Given the description of an element on the screen output the (x, y) to click on. 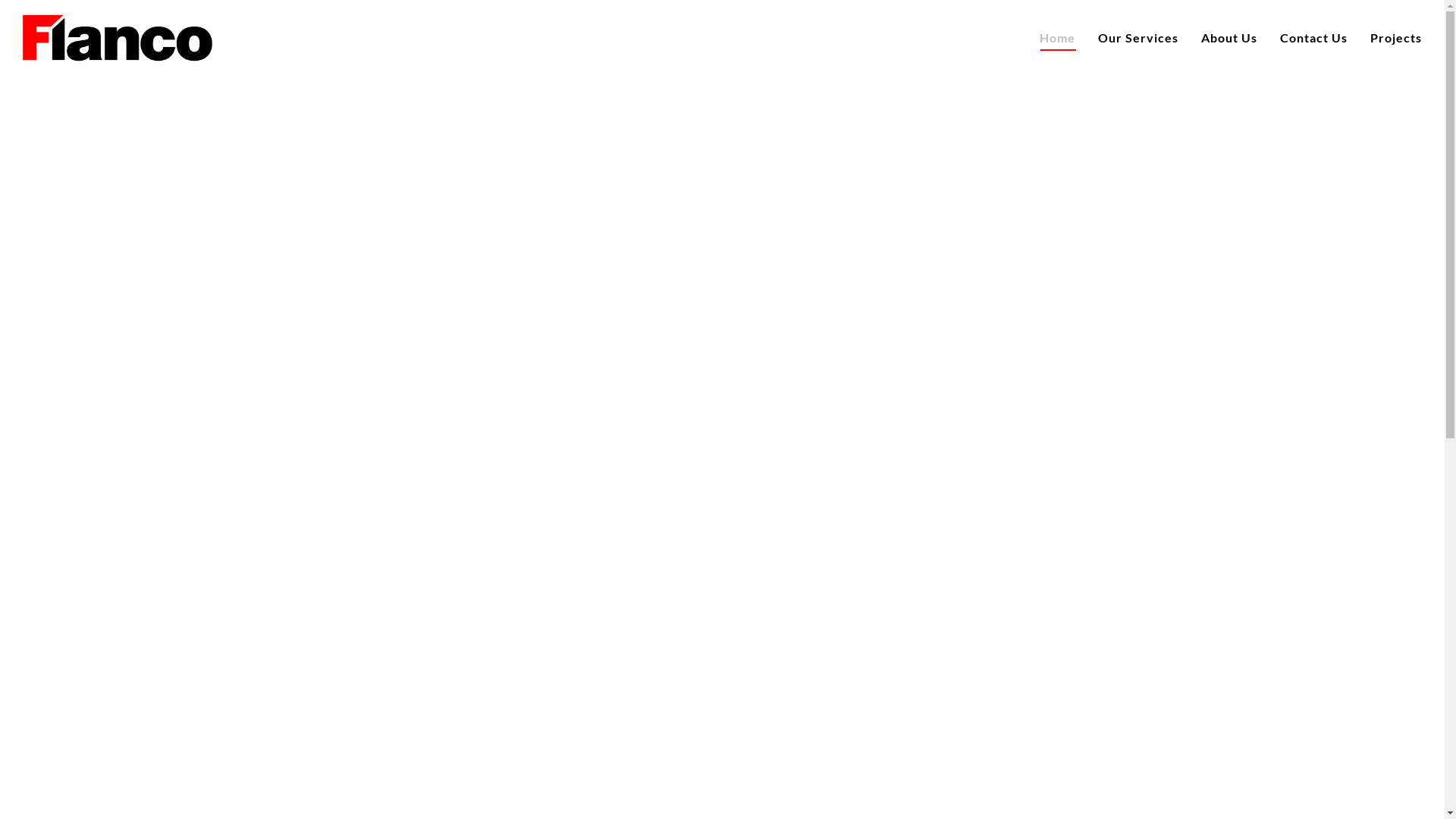
About Us Element type: text (1228, 37)
Our Services Element type: text (1137, 37)
Contact Us Element type: text (1313, 37)
Projects Element type: text (1395, 37)
Home Element type: text (1057, 37)
